Given the description of an element on the screen output the (x, y) to click on. 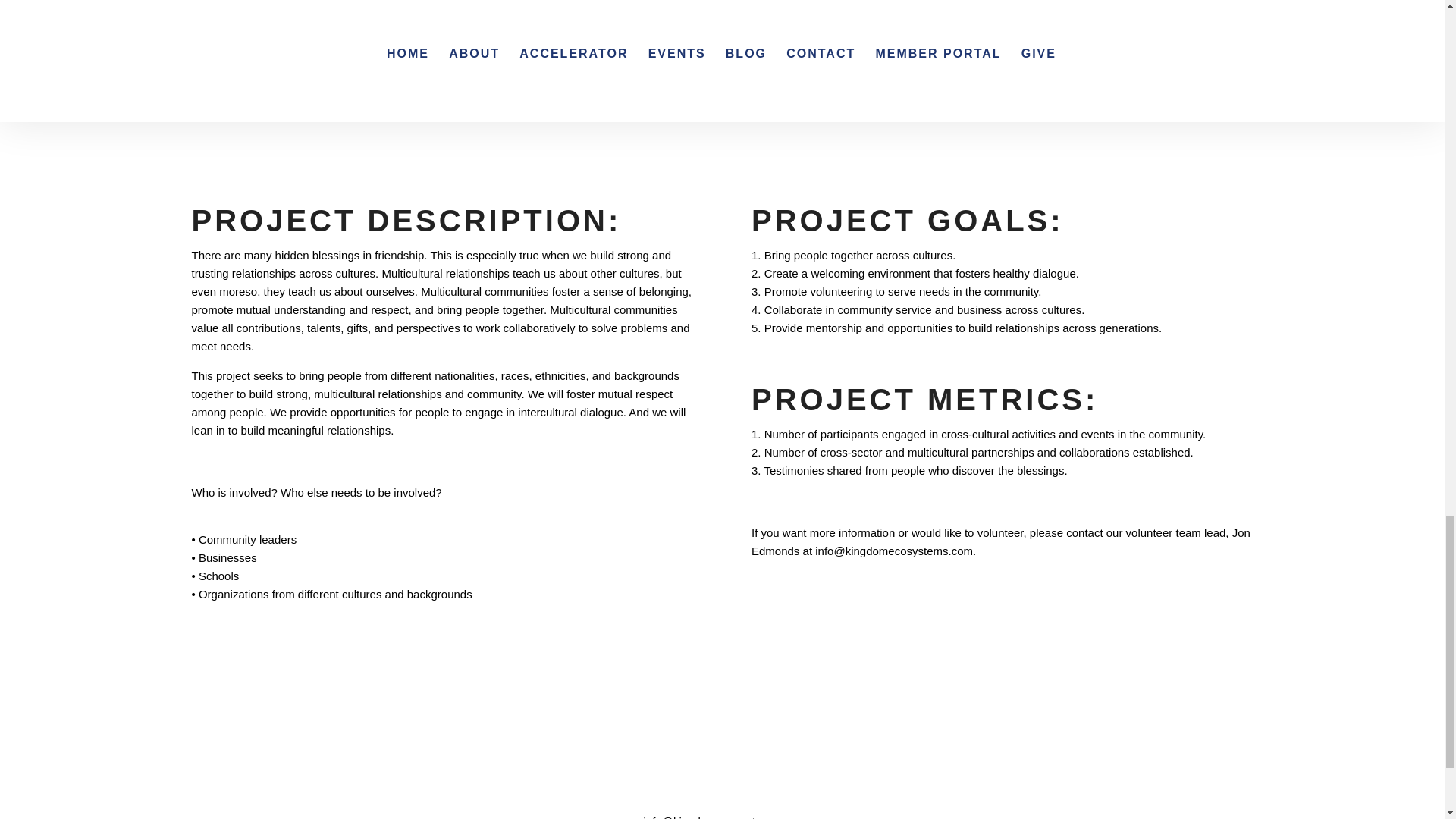
ACCELERATOR (561, 769)
CONTACT (813, 769)
GIVE (1021, 769)
ABOUT (466, 769)
HOME (394, 769)
MEMBER PORTAL (925, 769)
BLOG (655, 769)
EVENTS (728, 769)
